Given the description of an element on the screen output the (x, y) to click on. 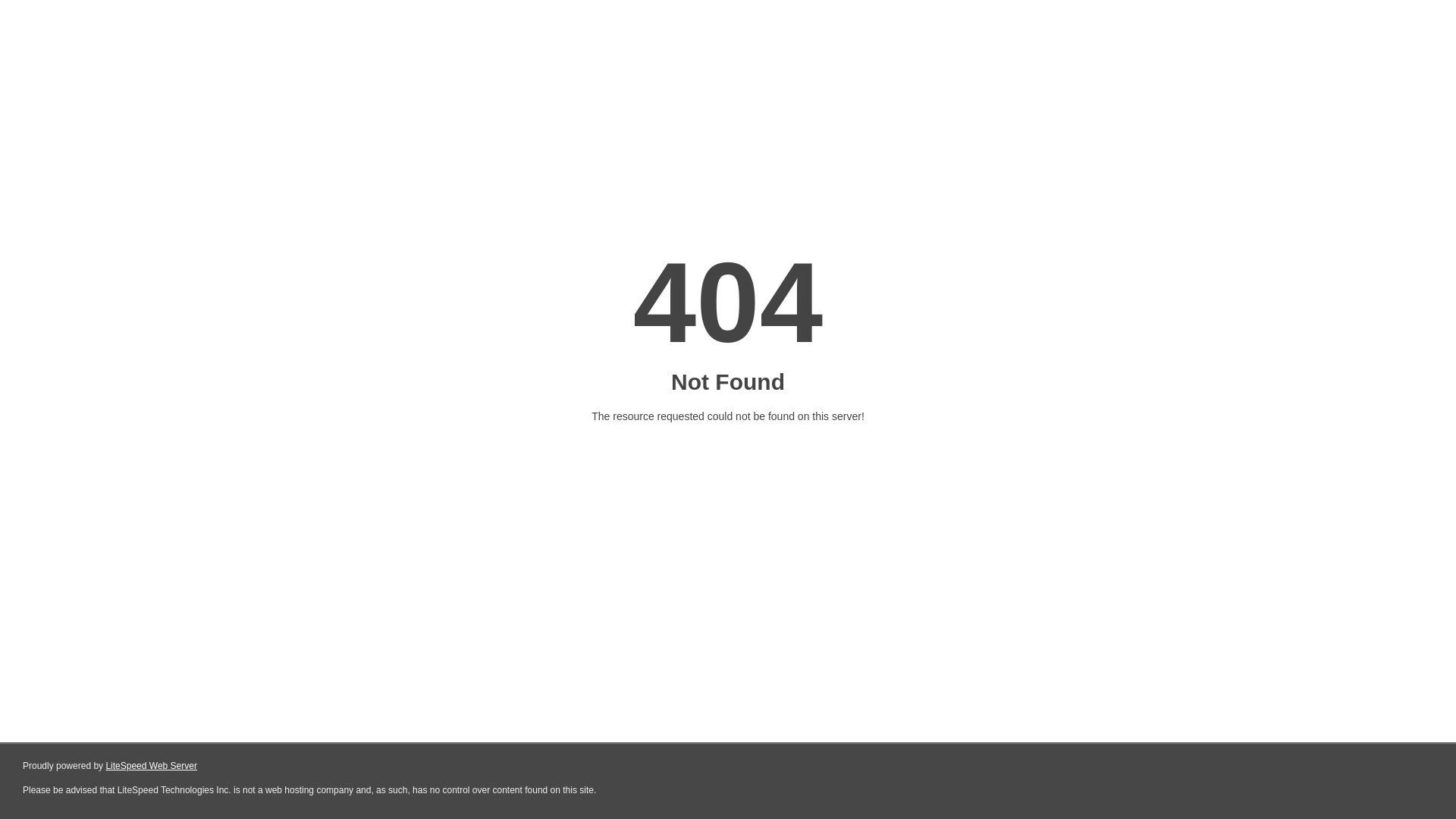
LiteSpeed Web Server Element type: text (151, 765)
